Given the description of an element on the screen output the (x, y) to click on. 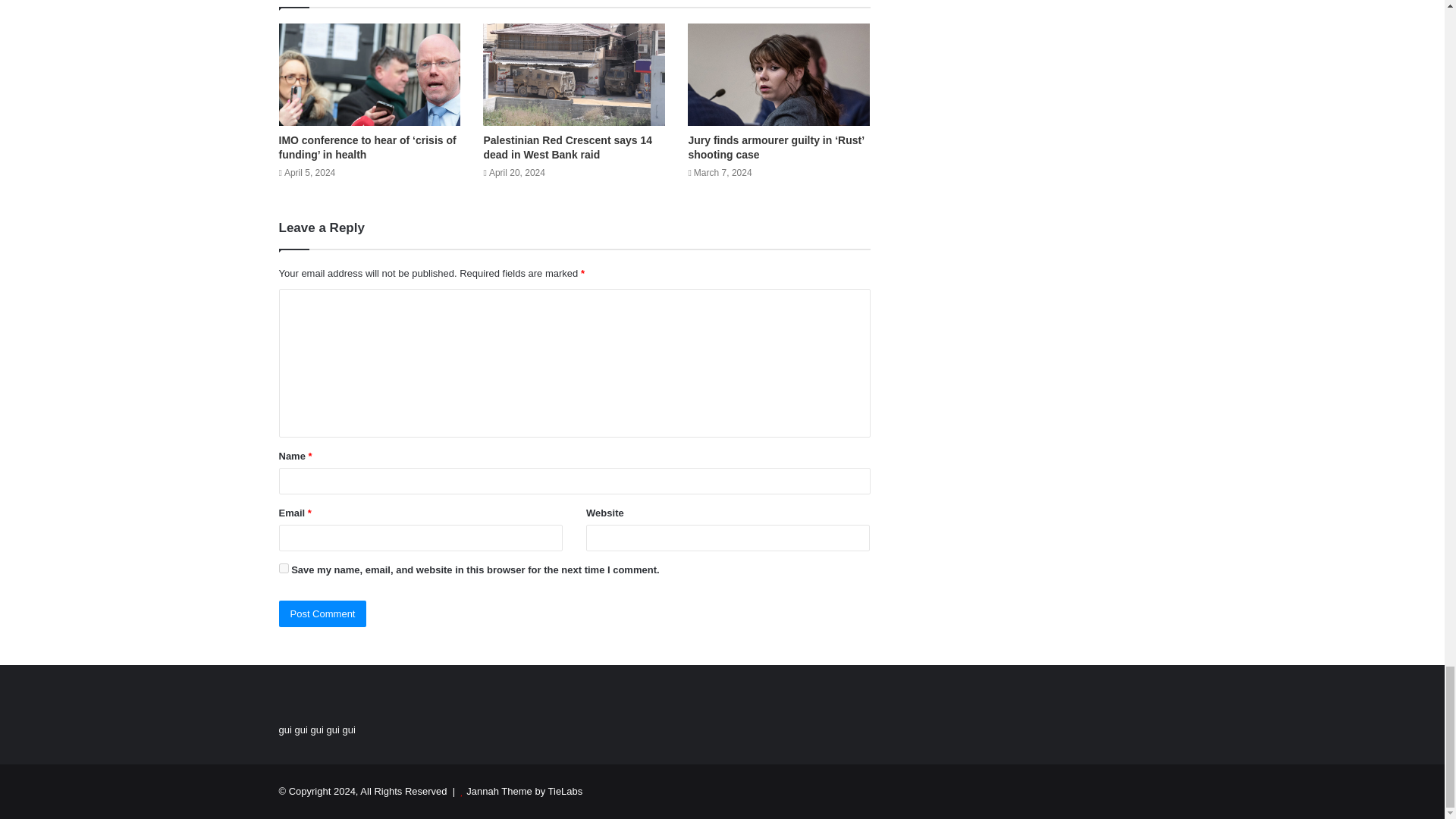
yes (283, 568)
Post Comment (322, 613)
